Given the description of an element on the screen output the (x, y) to click on. 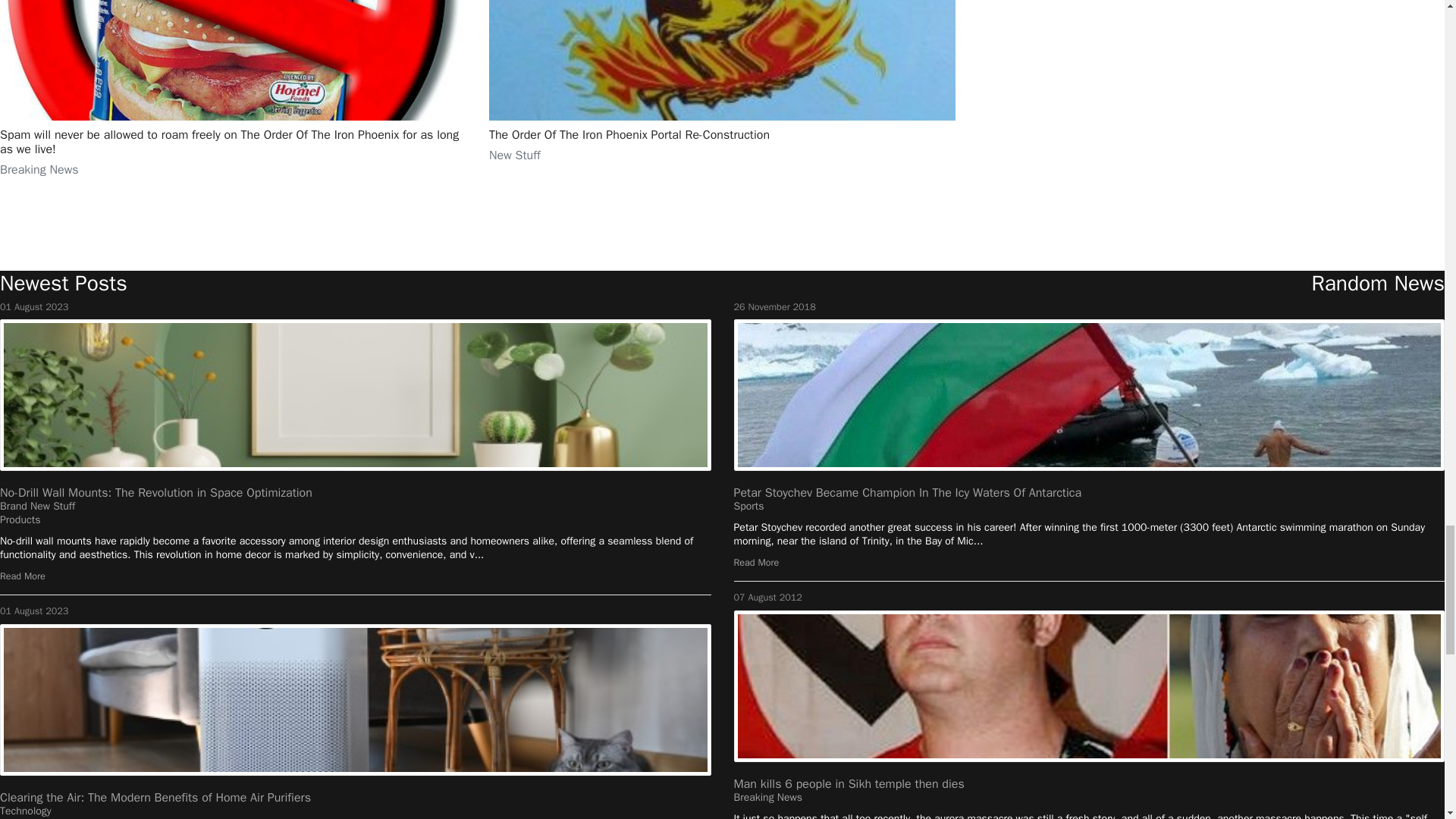
Clearing the Air: The Modern Benefits of Home Air Purifiers (155, 797)
Hanging (355, 394)
No-Drill Wall Mounts: The Revolution in Space Optimization (156, 492)
Man kills 6 people in Sikh temple then dies (848, 783)
